Given the description of an element on the screen output the (x, y) to click on. 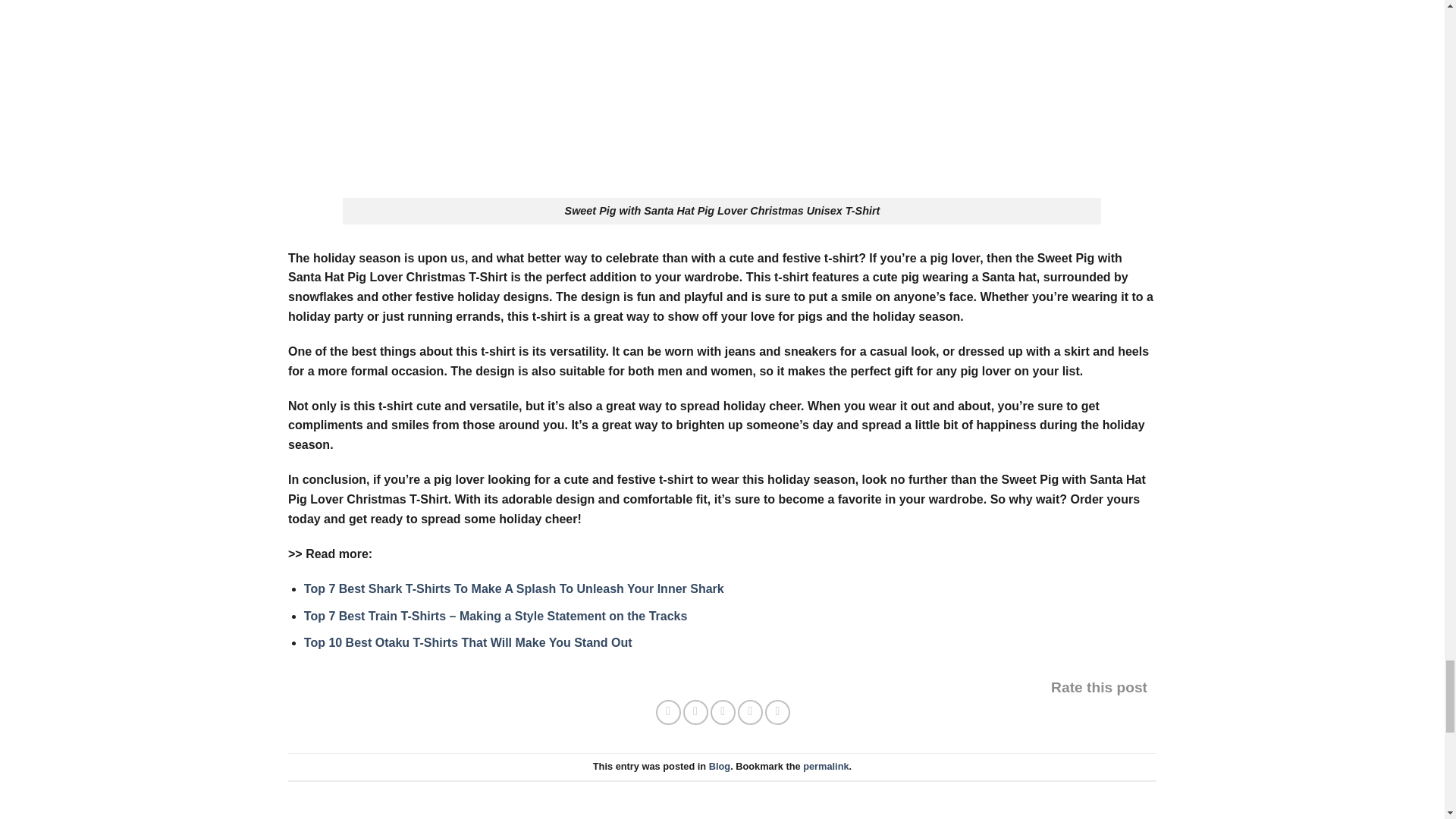
Share on Facebook (668, 712)
Share on Twitter (694, 712)
Email to a Friend (722, 712)
